Given the description of an element on the screen output the (x, y) to click on. 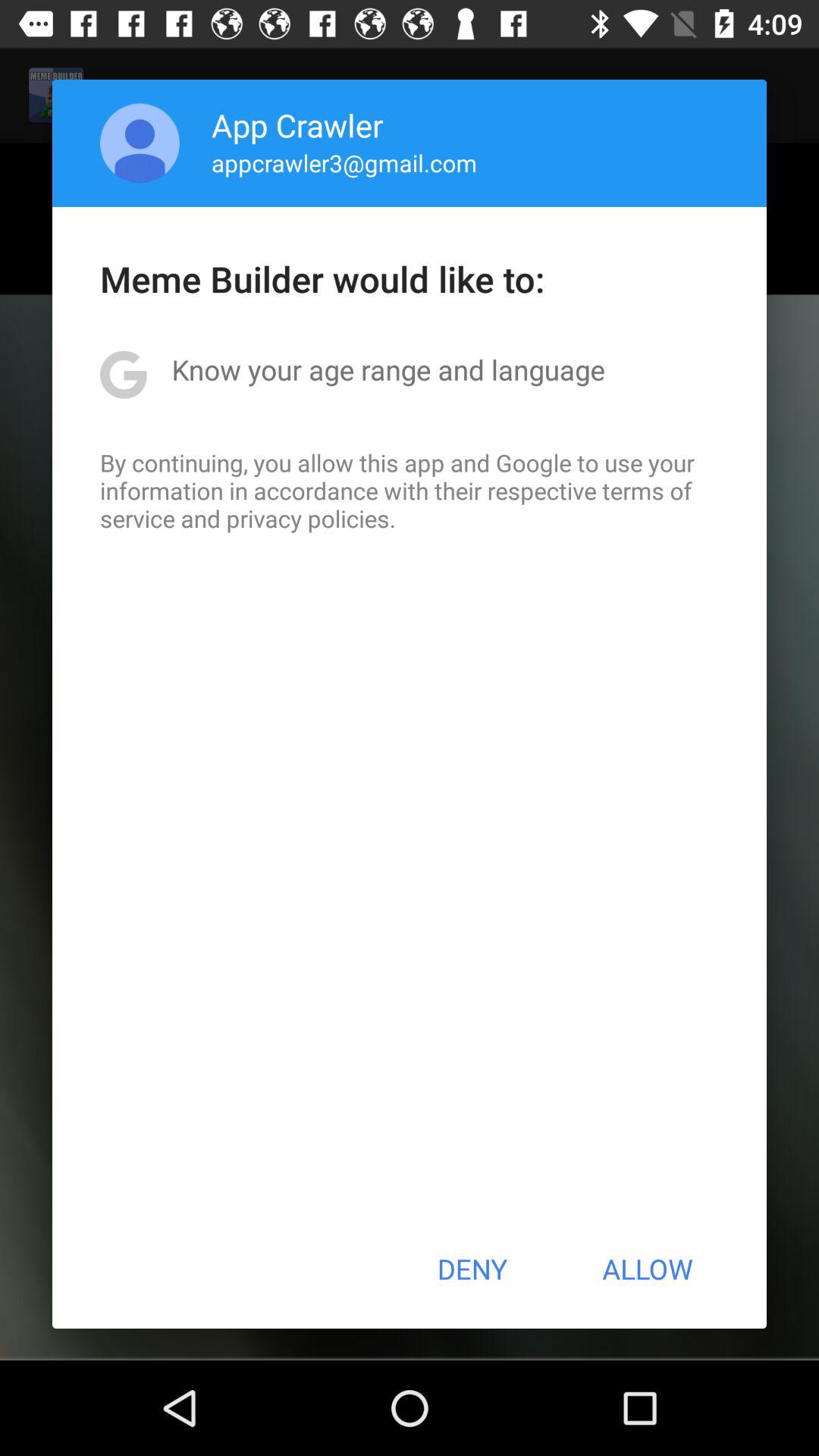
tap icon above meme builder would icon (139, 143)
